Given the description of an element on the screen output the (x, y) to click on. 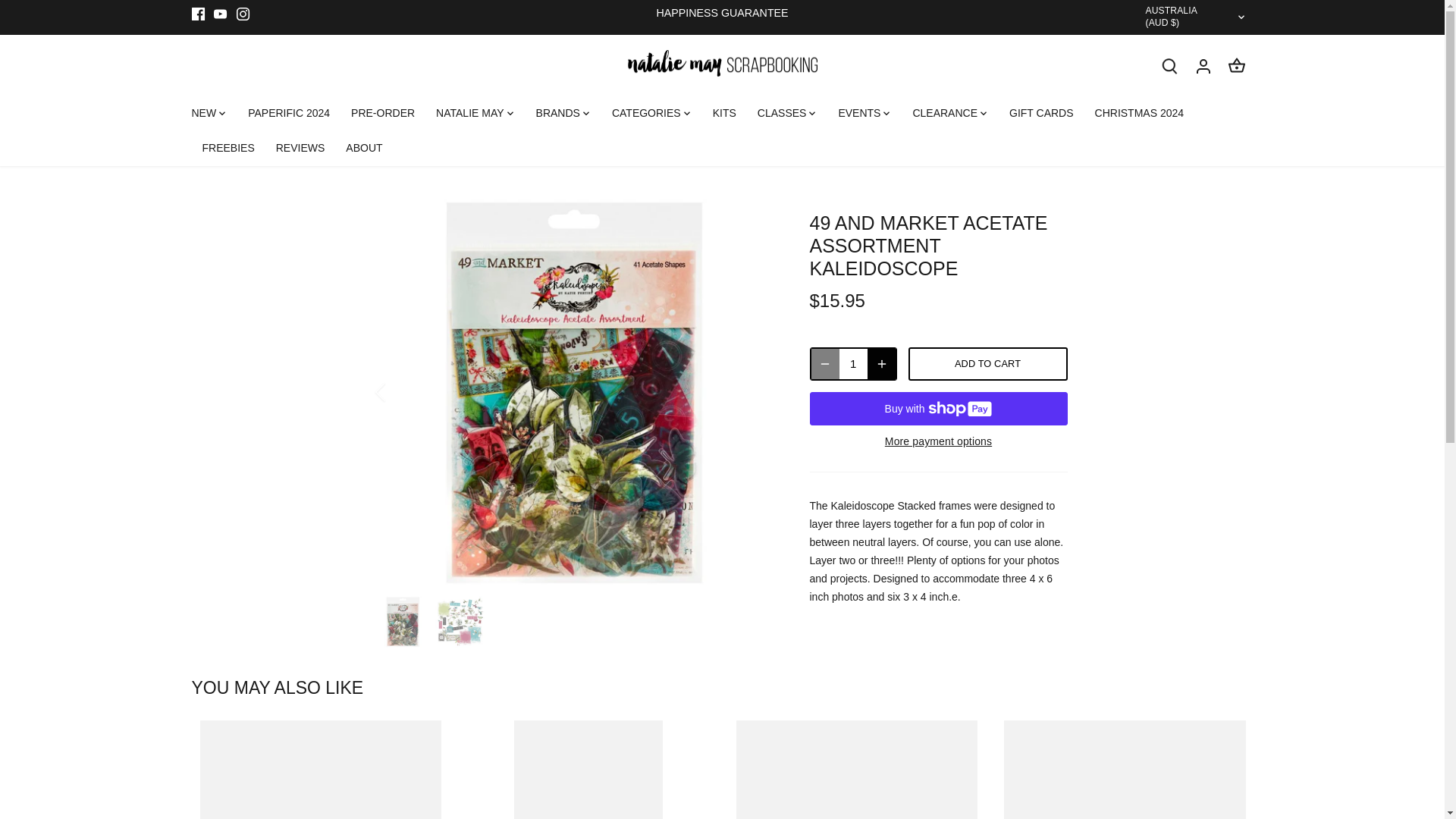
Instagram (241, 13)
1 (852, 364)
Youtube (220, 13)
Facebook (196, 13)
